Given the description of an element on the screen output the (x, y) to click on. 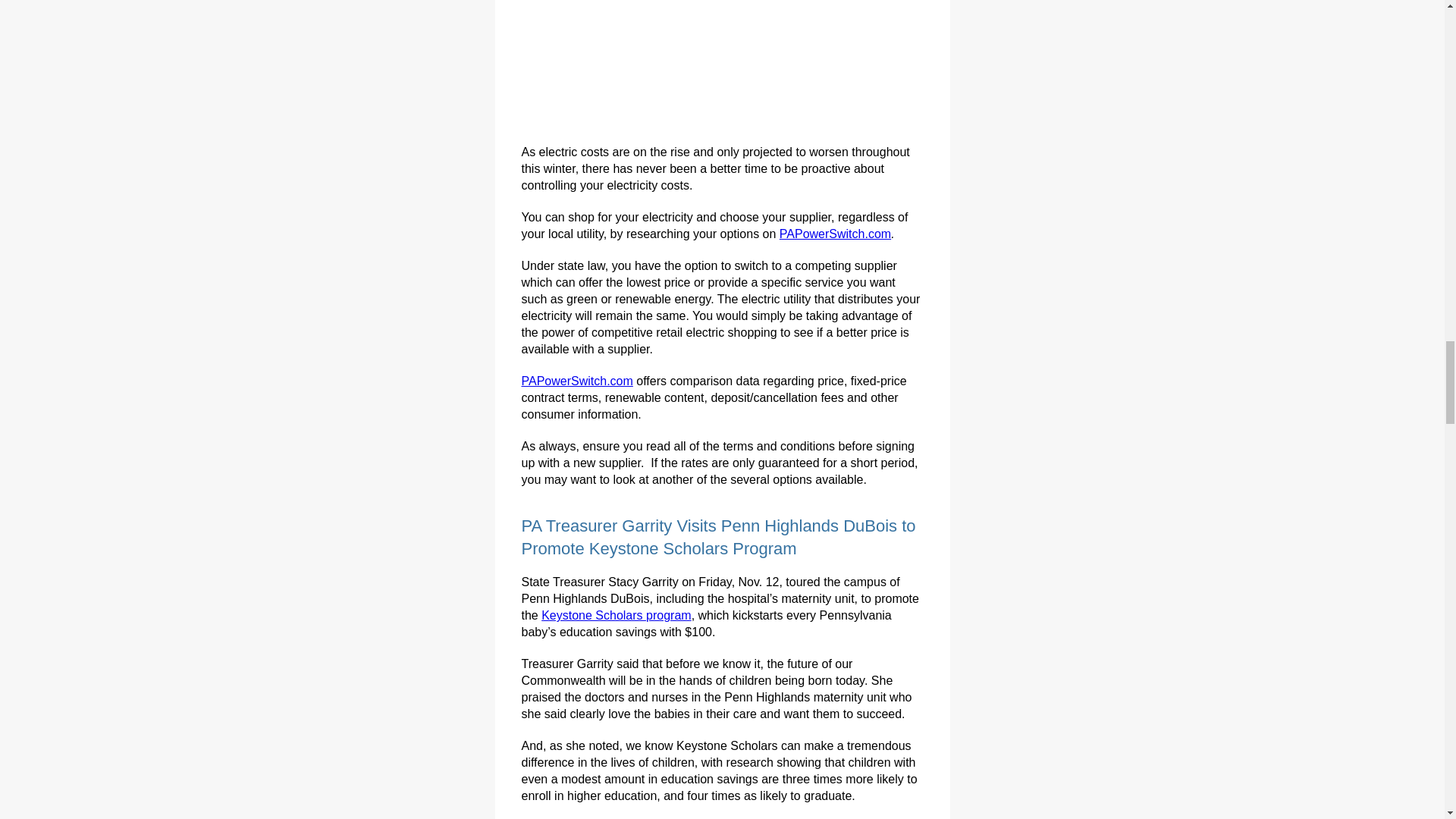
PAPowerSwitch.com (834, 233)
Keystone Scholars program (615, 615)
PAPowerSwitch.com (577, 380)
